Given the description of an element on the screen output the (x, y) to click on. 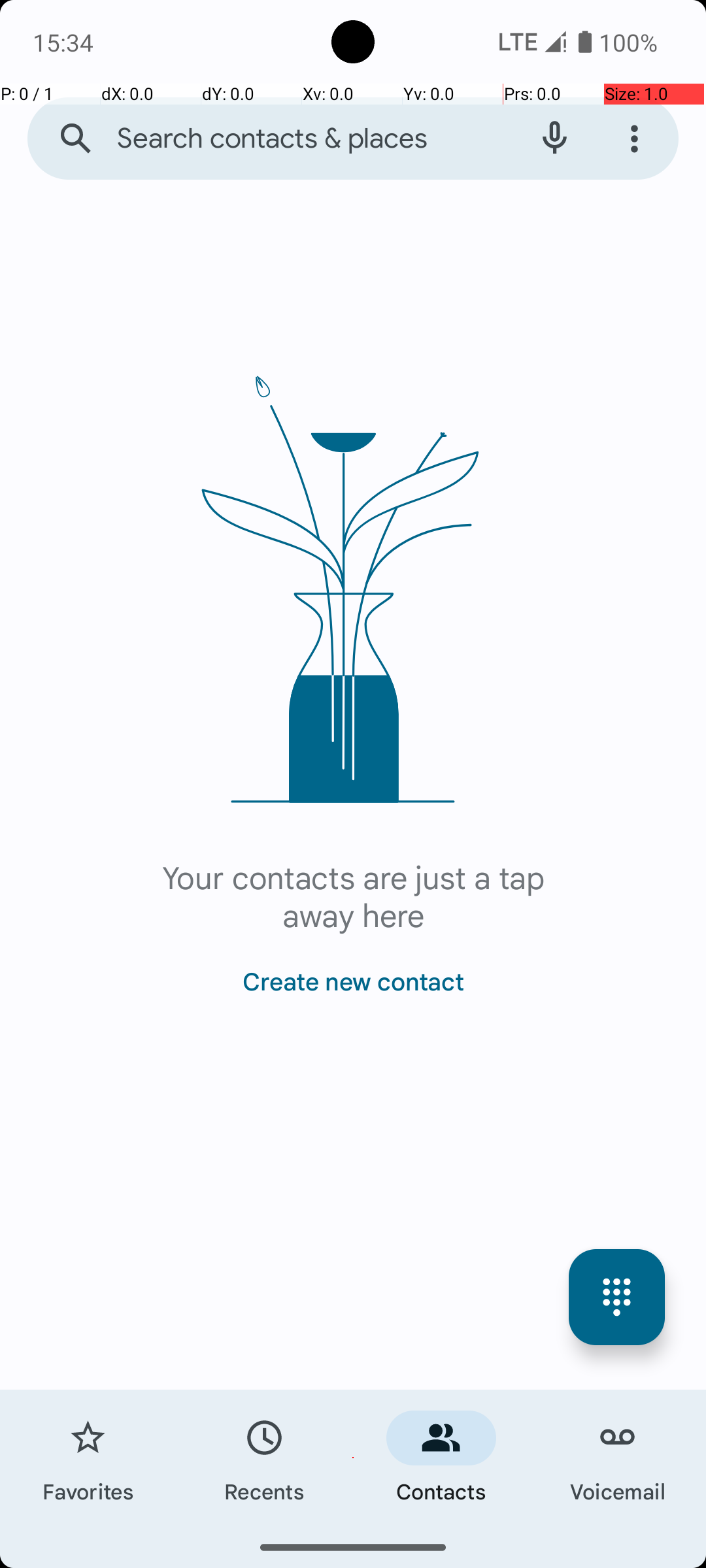
Your contacts are just a tap away here Element type: android.widget.TextView (352, 895)
key pad Element type: android.widget.ImageButton (616, 1297)
Voicemail Element type: android.widget.FrameLayout (617, 1457)
